Given the description of an element on the screen output the (x, y) to click on. 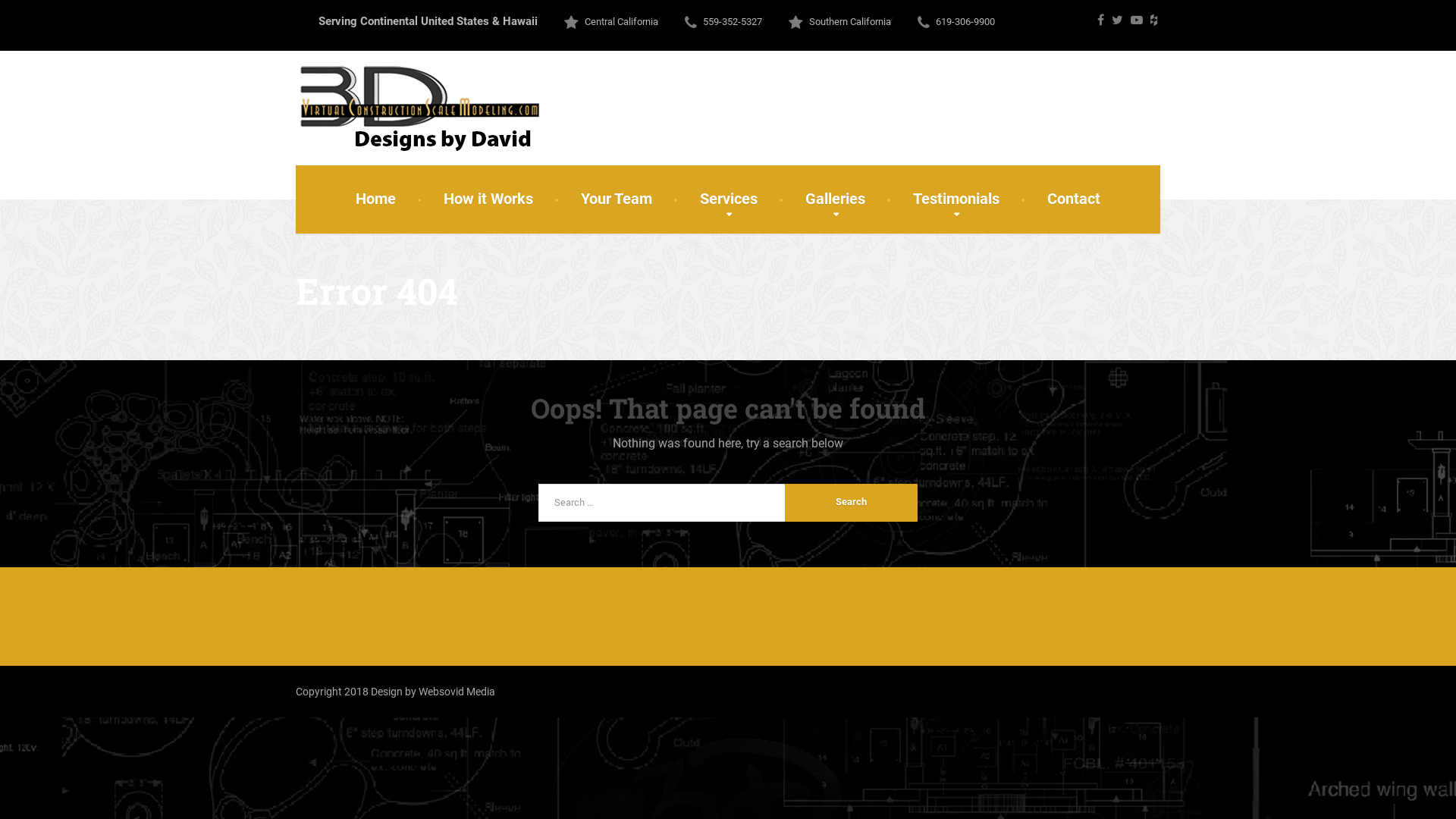
559-352-5327 Element type: text (723, 21)
Services Element type: text (728, 199)
Contact Element type: text (1073, 199)
Your Team Element type: text (616, 199)
Galleries Element type: text (835, 199)
Home Element type: text (375, 199)
3D Virtual Construction Element type: hover (418, 107)
Testimonials Element type: text (956, 199)
619-306-9900 Element type: text (955, 21)
Search Element type: text (850, 502)
How it Works Element type: text (487, 199)
